Given the description of an element on the screen output the (x, y) to click on. 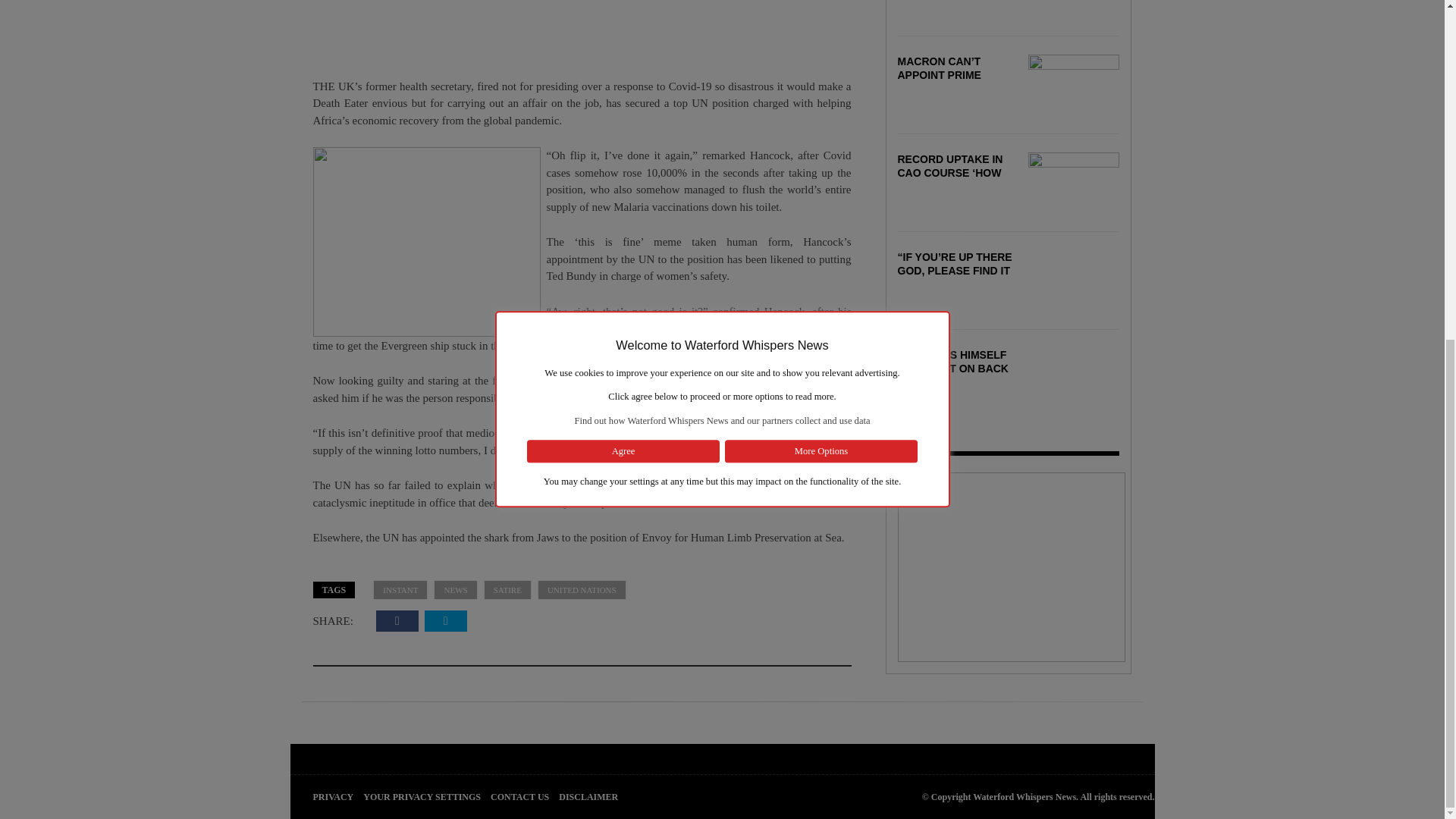
View all posts tagged united nations (581, 589)
View all posts tagged news (455, 589)
View all posts tagged instant (400, 589)
View all posts tagged satire (507, 589)
